Given the description of an element on the screen output the (x, y) to click on. 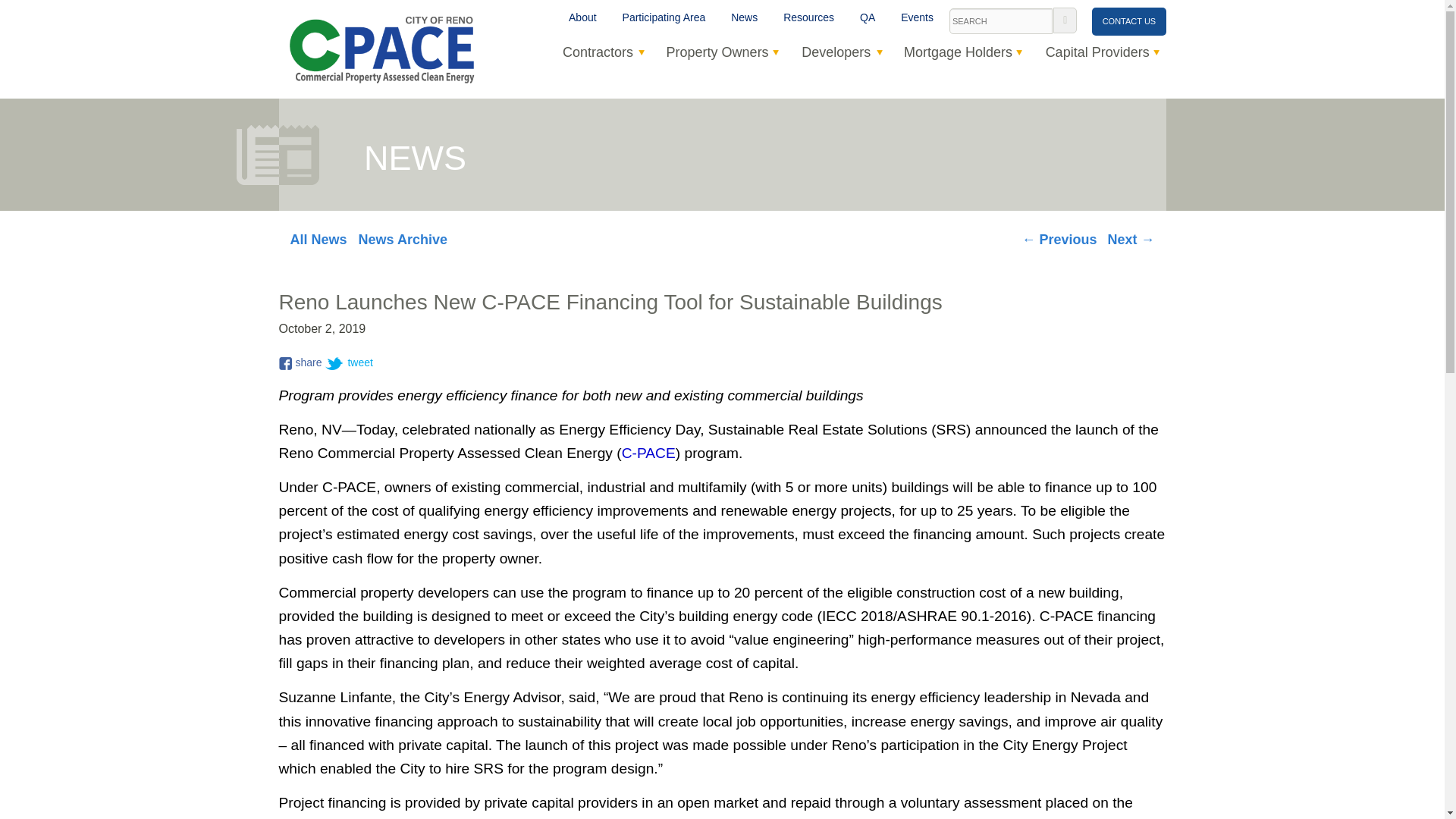
CONTACT US (1129, 21)
Participating Area (664, 18)
City of Reno C-PACE (381, 47)
Contractors (597, 52)
Property Owners (717, 52)
Events (917, 18)
News (743, 18)
QA (867, 18)
About (583, 18)
Resources (808, 18)
11:02 am (322, 329)
